Given the description of an element on the screen output the (x, y) to click on. 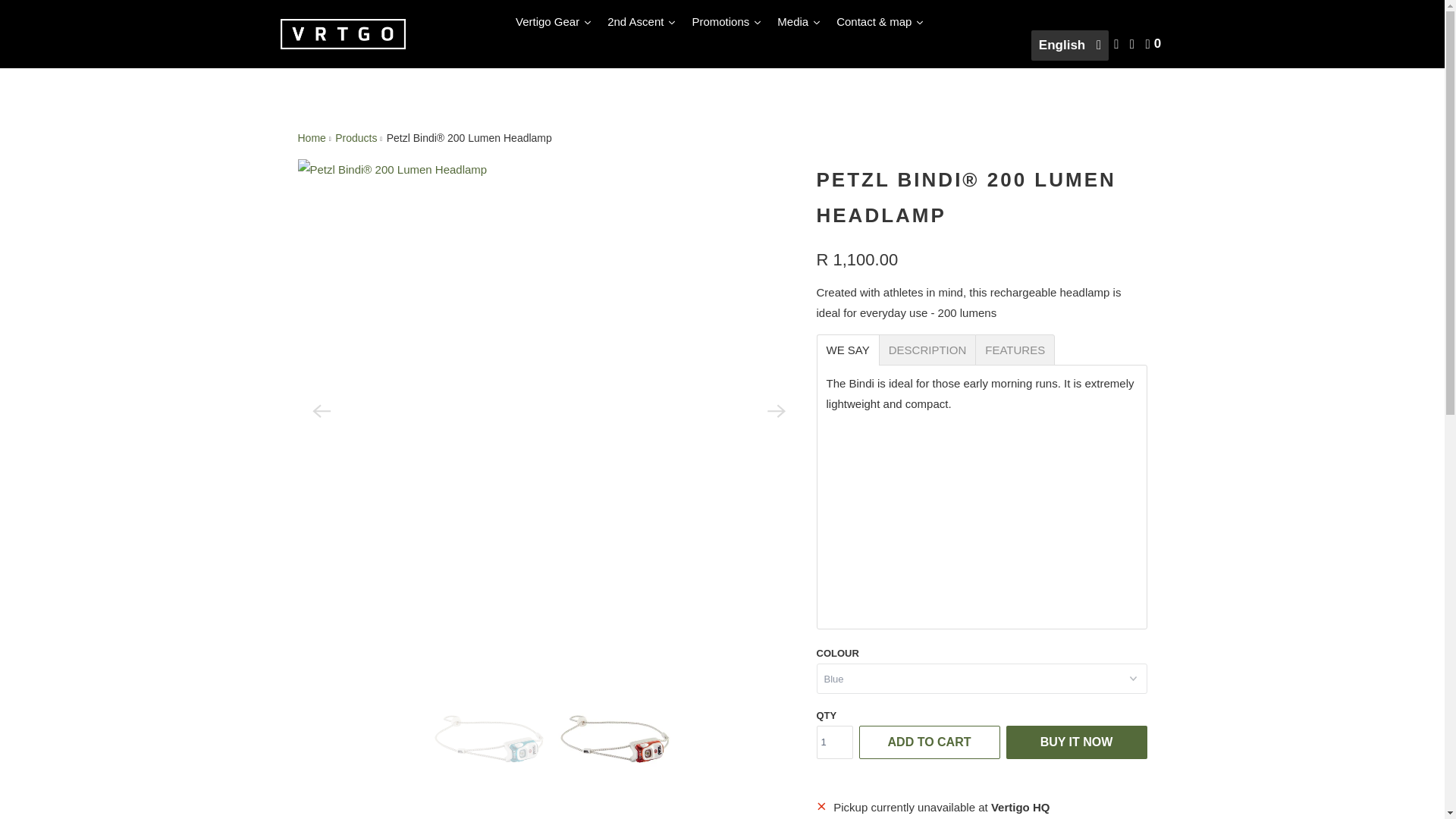
Promotions (727, 21)
VertigoGear (342, 34)
Products (355, 137)
VertigoGear (310, 137)
Media (799, 21)
Promotions (727, 21)
2nd Ascent (641, 21)
0 (1154, 44)
Vertigo Gear (553, 21)
English (1069, 45)
Media (799, 21)
2nd Ascent (641, 21)
Vertigo Gear (553, 21)
Products (355, 137)
1 (833, 742)
